Given the description of an element on the screen output the (x, y) to click on. 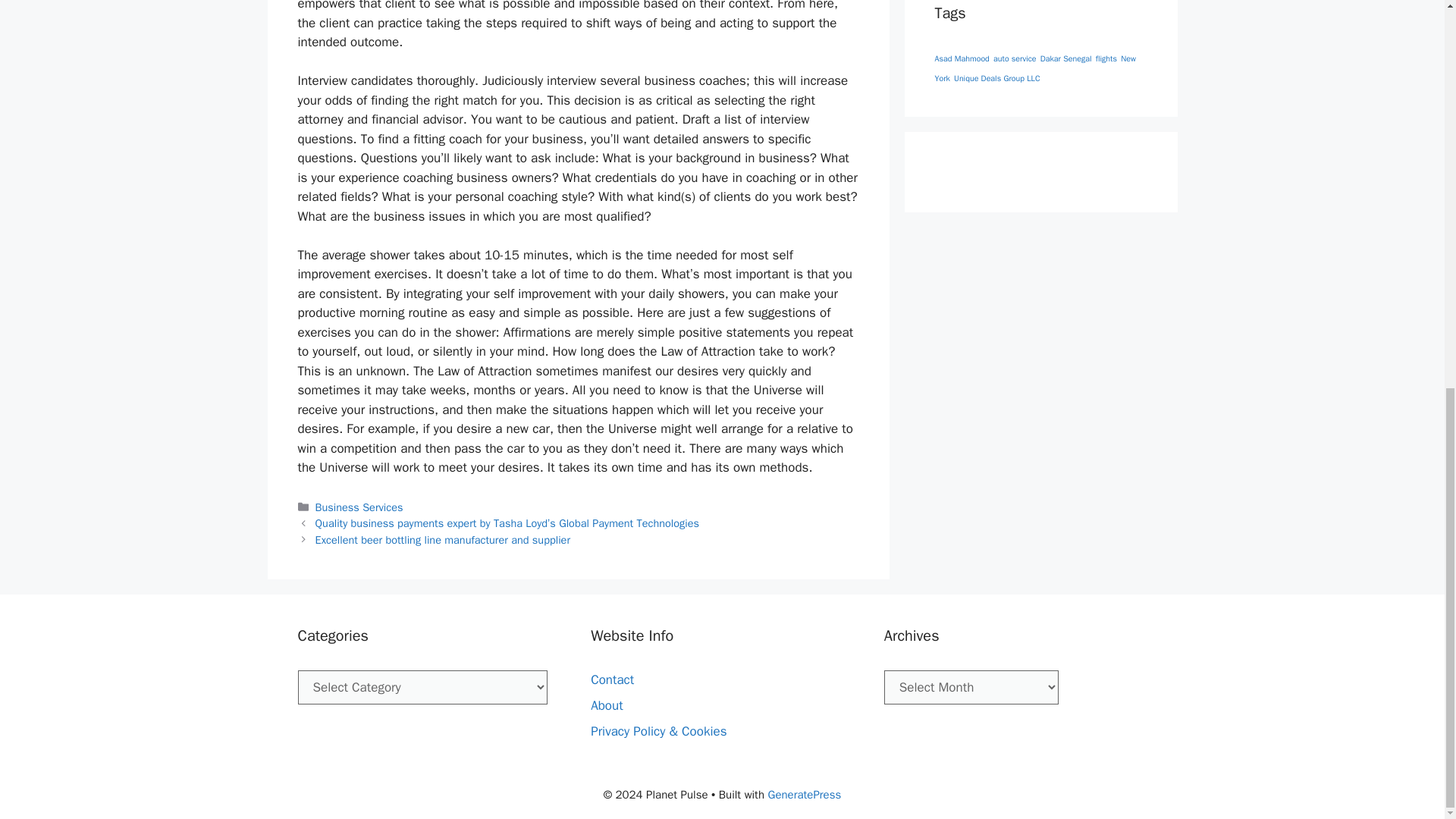
Next (442, 540)
Excellent beer bottling line manufacturer and supplier (442, 540)
New York (1034, 68)
Unique Deals Group LLC (996, 78)
About (607, 705)
Business Services (359, 507)
GeneratePress (804, 794)
Contact (612, 679)
flights (1106, 58)
Dakar Senegal (1066, 58)
Previous (506, 522)
Asad Mahmood (961, 58)
auto service (1014, 58)
